Given the description of an element on the screen output the (x, y) to click on. 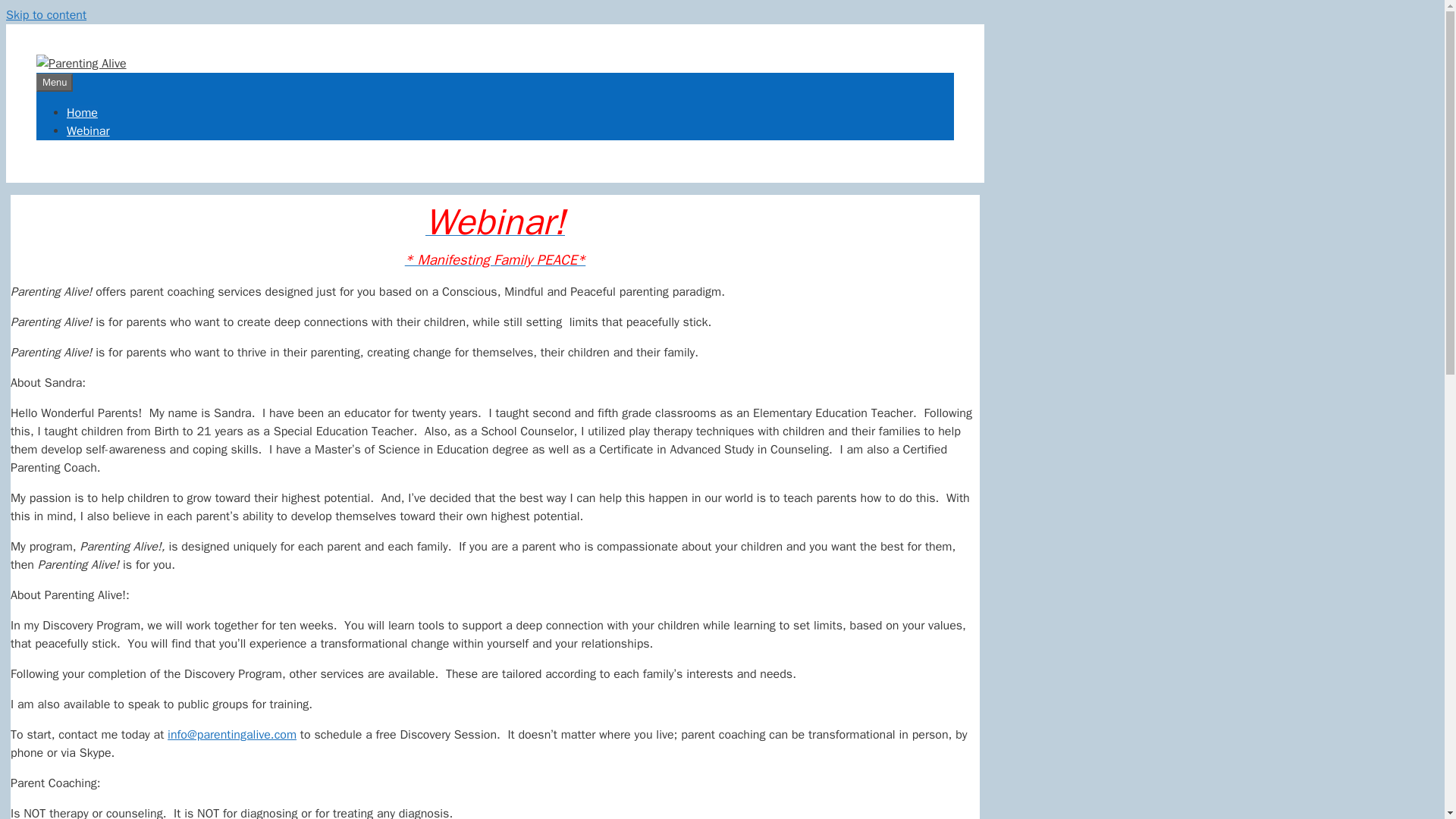
Webinar (88, 130)
Skip to content (45, 14)
Menu (54, 82)
Home (81, 112)
Skip to content (45, 14)
